Given the description of an element on the screen output the (x, y) to click on. 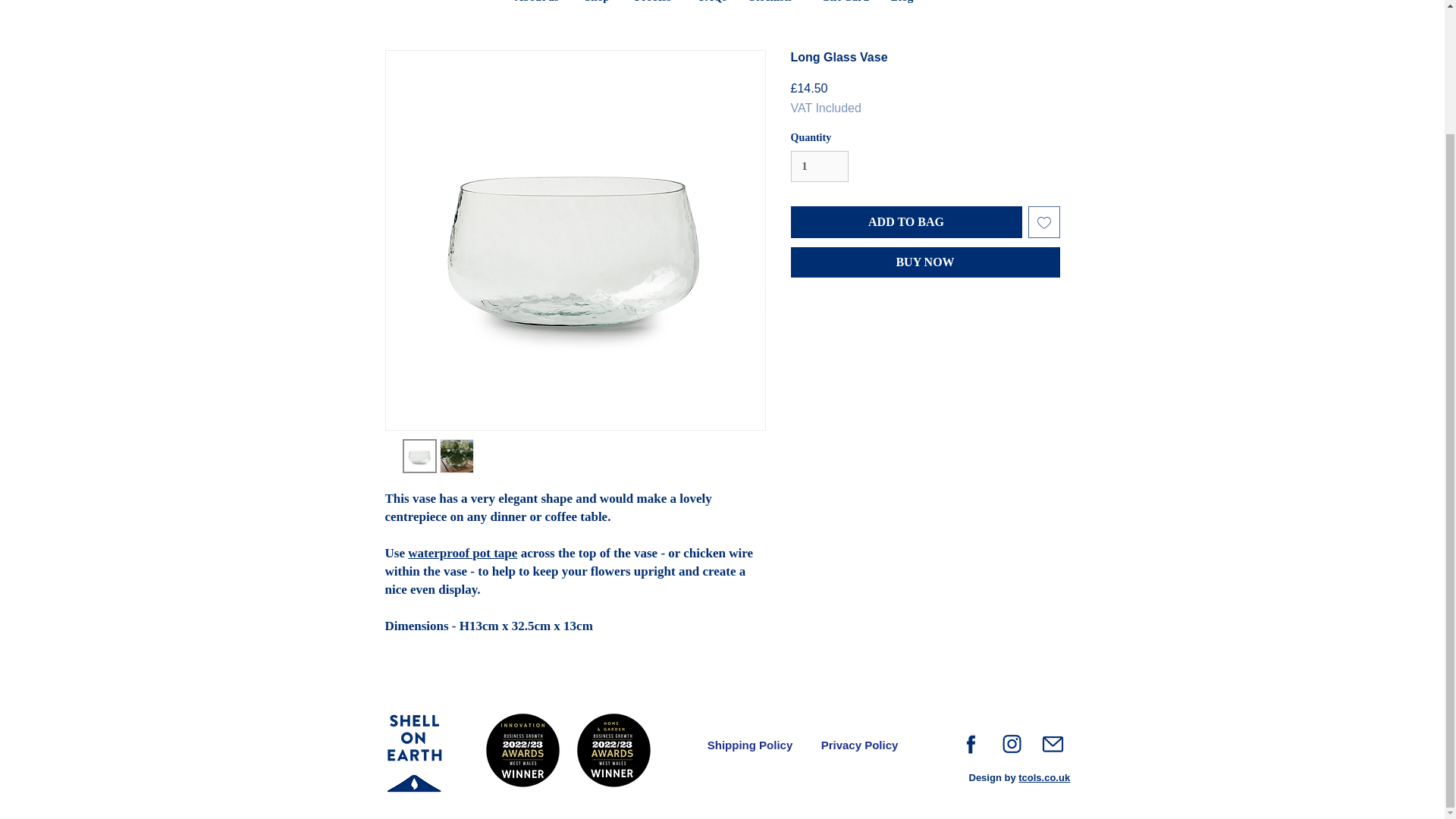
Gift Card (844, 7)
1 (818, 165)
About us (538, 7)
Stockists (773, 7)
ADD TO BAG (906, 222)
Privacy Policy (858, 745)
Shop (598, 7)
FAQs (712, 7)
BUY NOW (924, 262)
Design by tcols.co.uk (1019, 777)
Blog (901, 7)
waterproof pot tape (461, 553)
Shipping Policy (749, 745)
Process (655, 7)
